Given the description of an element on the screen output the (x, y) to click on. 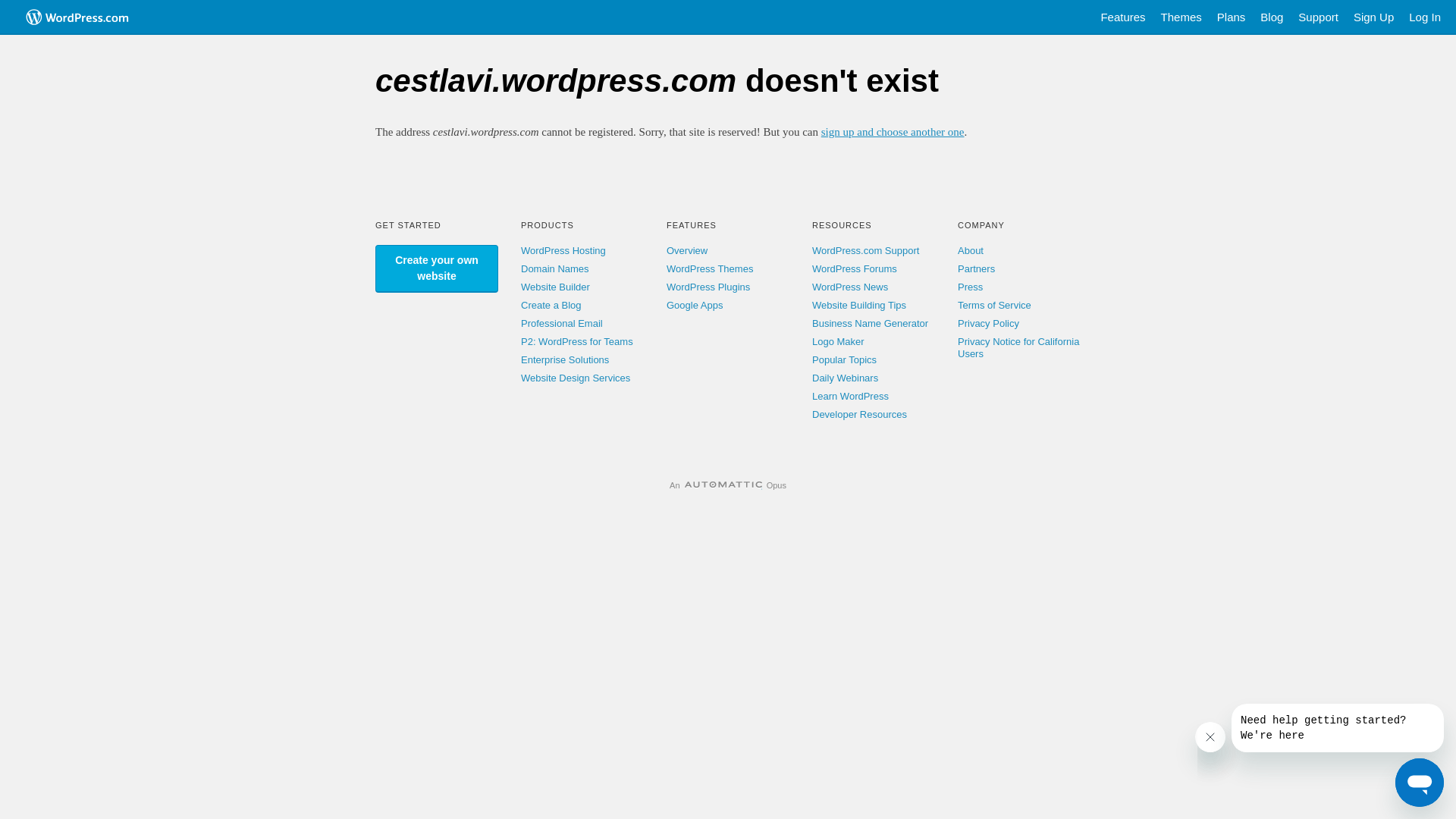
P2: WordPress for Teams Element type: text (576, 341)
sign up and choose another one Element type: text (892, 131)
Logo Maker Element type: text (838, 341)
Press Element type: text (969, 286)
Learn WordPress Element type: text (850, 395)
About Element type: text (970, 250)
Domain Names Element type: text (554, 268)
Professional Email Element type: text (561, 323)
WordPress.com Support Element type: text (865, 250)
Website Building Tips Element type: text (859, 304)
Message from company Element type: hover (1337, 727)
Plans Element type: text (1231, 17)
Terms of Service Element type: text (994, 304)
Support Element type: text (1318, 17)
Google Apps Element type: text (694, 304)
Create your own website Element type: text (436, 268)
WordPress Themes Element type: text (709, 268)
Privacy Notice for California Users Element type: text (1018, 347)
Privacy Policy Element type: text (988, 323)
Website Design Services Element type: text (575, 377)
WordPress Hosting Element type: text (562, 250)
Enterprise Solutions Element type: text (564, 359)
Close message Element type: hover (1210, 736)
Sign Up Element type: text (1373, 17)
Create a Blog Element type: text (550, 304)
Automattic Element type: text (723, 485)
WordPress Plugins Element type: text (707, 286)
Themes Element type: text (1181, 17)
Business Name Generator Element type: text (870, 323)
Features Element type: text (1122, 17)
Partners Element type: text (975, 268)
Daily Webinars Element type: text (845, 377)
Blog Element type: text (1271, 17)
WordPress Forums Element type: text (854, 268)
WordPress News Element type: text (850, 286)
Website Builder Element type: text (554, 286)
Developer Resources Element type: text (859, 414)
Log In Element type: text (1424, 17)
Popular Topics Element type: text (844, 359)
Overview Element type: text (686, 250)
Button to launch messaging window Element type: hover (1419, 782)
